Given the description of an element on the screen output the (x, y) to click on. 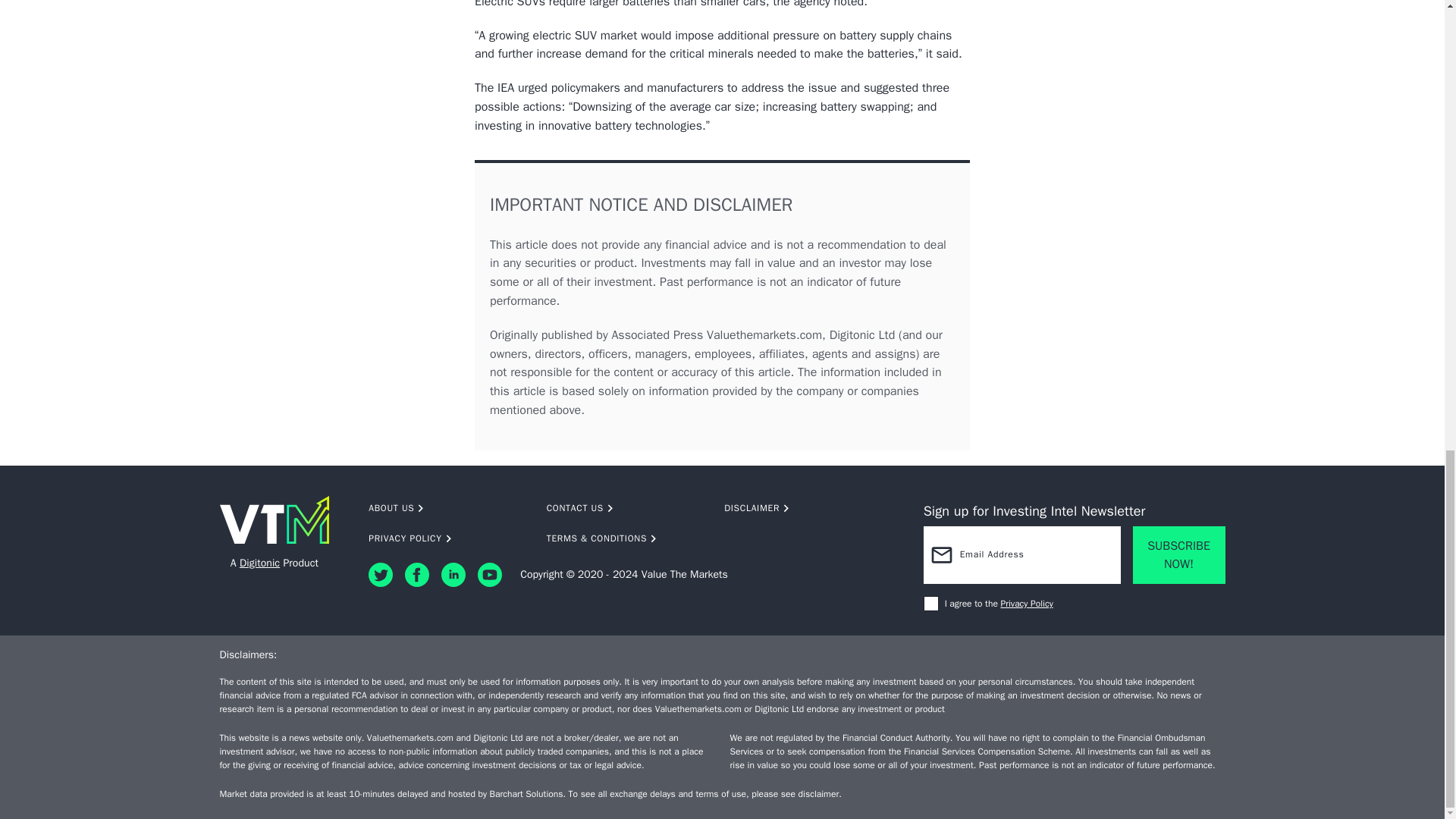
Yes (931, 603)
